Given the description of an element on the screen output the (x, y) to click on. 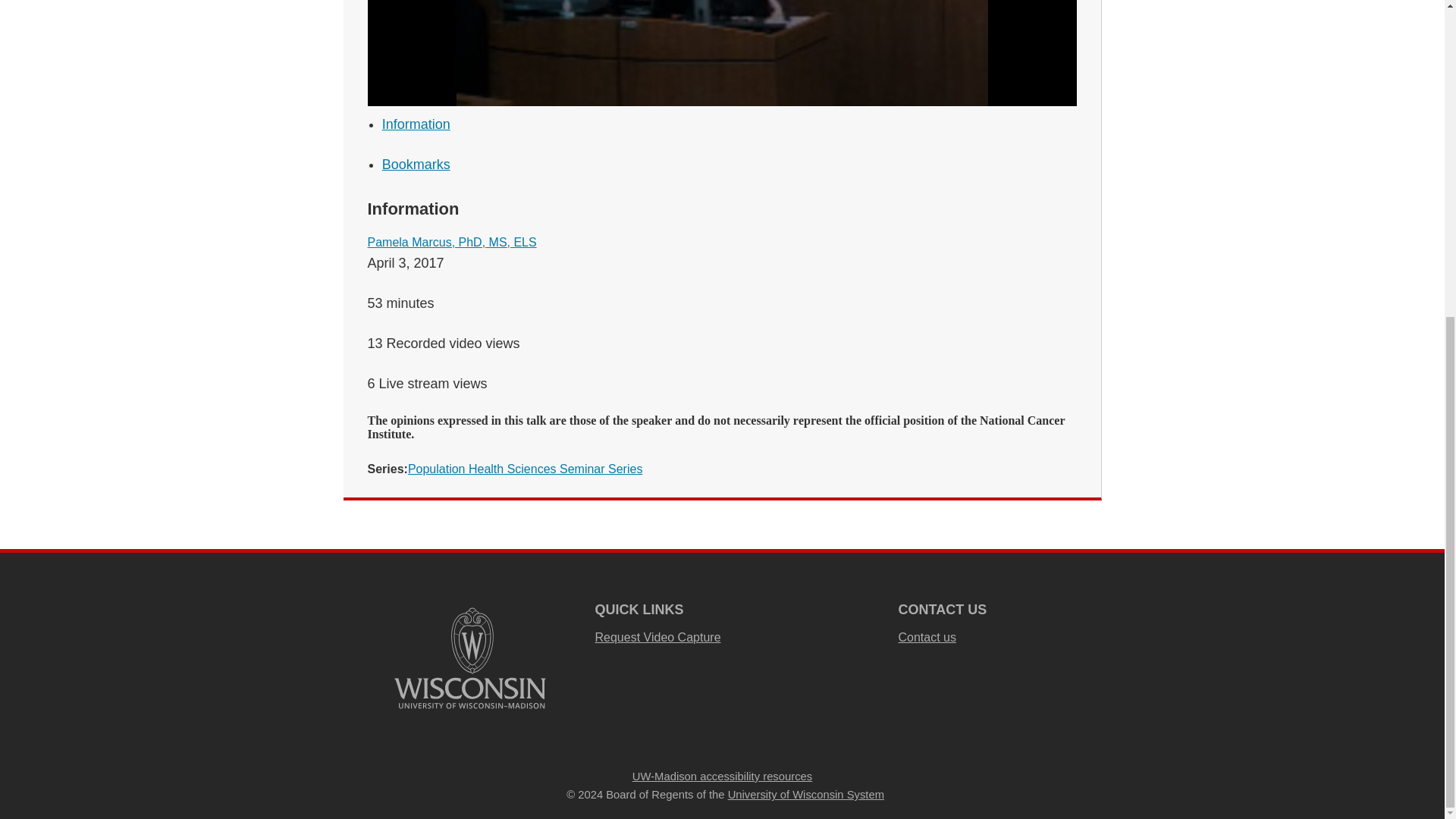
Pamela Marcus, PhD, MS, ELS (450, 241)
Bookmarks (415, 164)
Contact us (926, 636)
UW-Madison accessibility resources (721, 776)
University of Wisconsin System (805, 794)
Request Video Capture (657, 636)
Information (415, 124)
Population Health Sciences Seminar Series (525, 469)
